Given the description of an element on the screen output the (x, y) to click on. 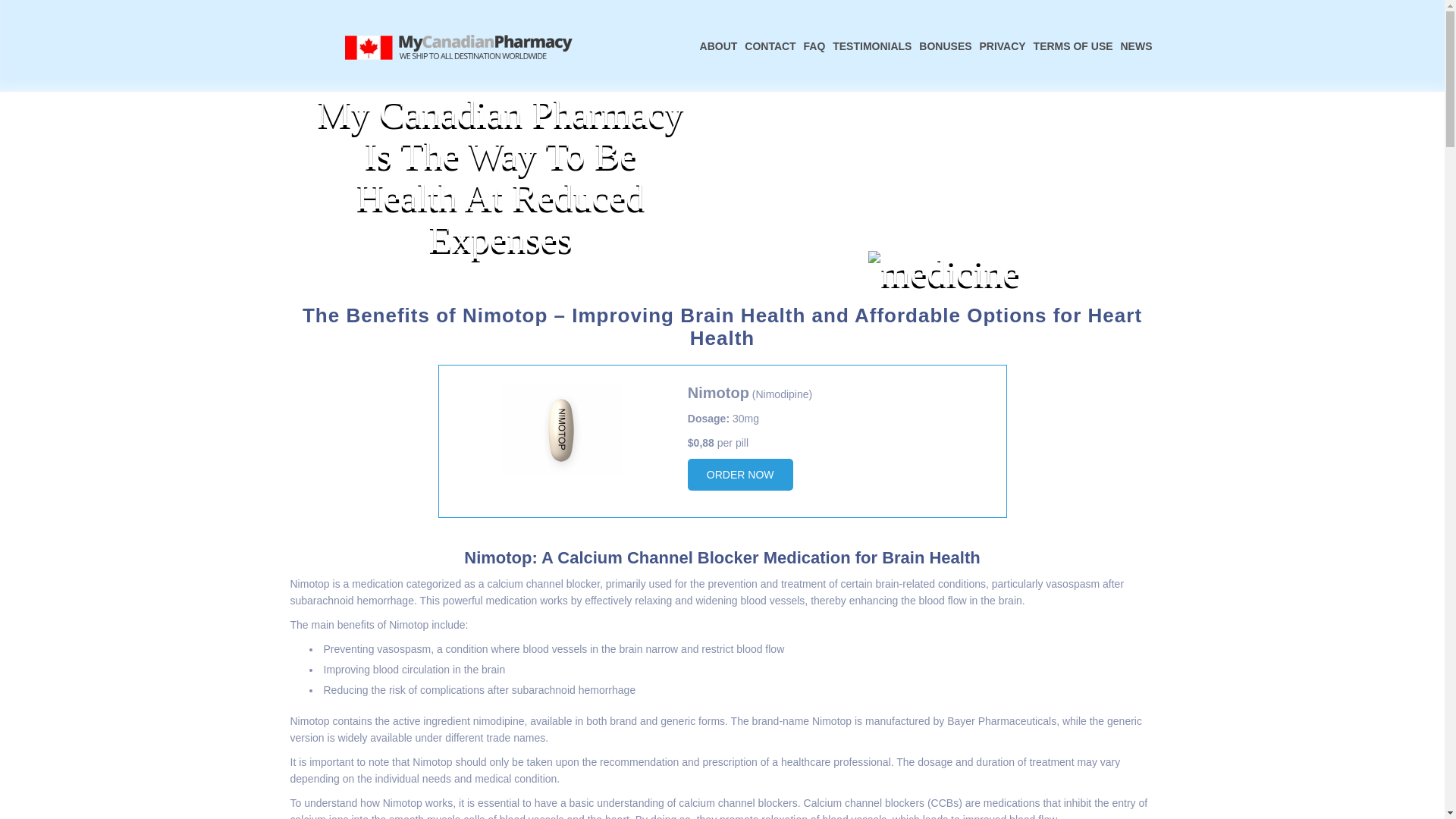
NEWS (1136, 45)
TESTIMONIALS (871, 45)
ORDER NOW (740, 474)
TERMS OF USE (1072, 45)
PRIVACY (1001, 45)
BONUSES (945, 45)
ABOUT (718, 45)
CONTACT (769, 45)
